Given the description of an element on the screen output the (x, y) to click on. 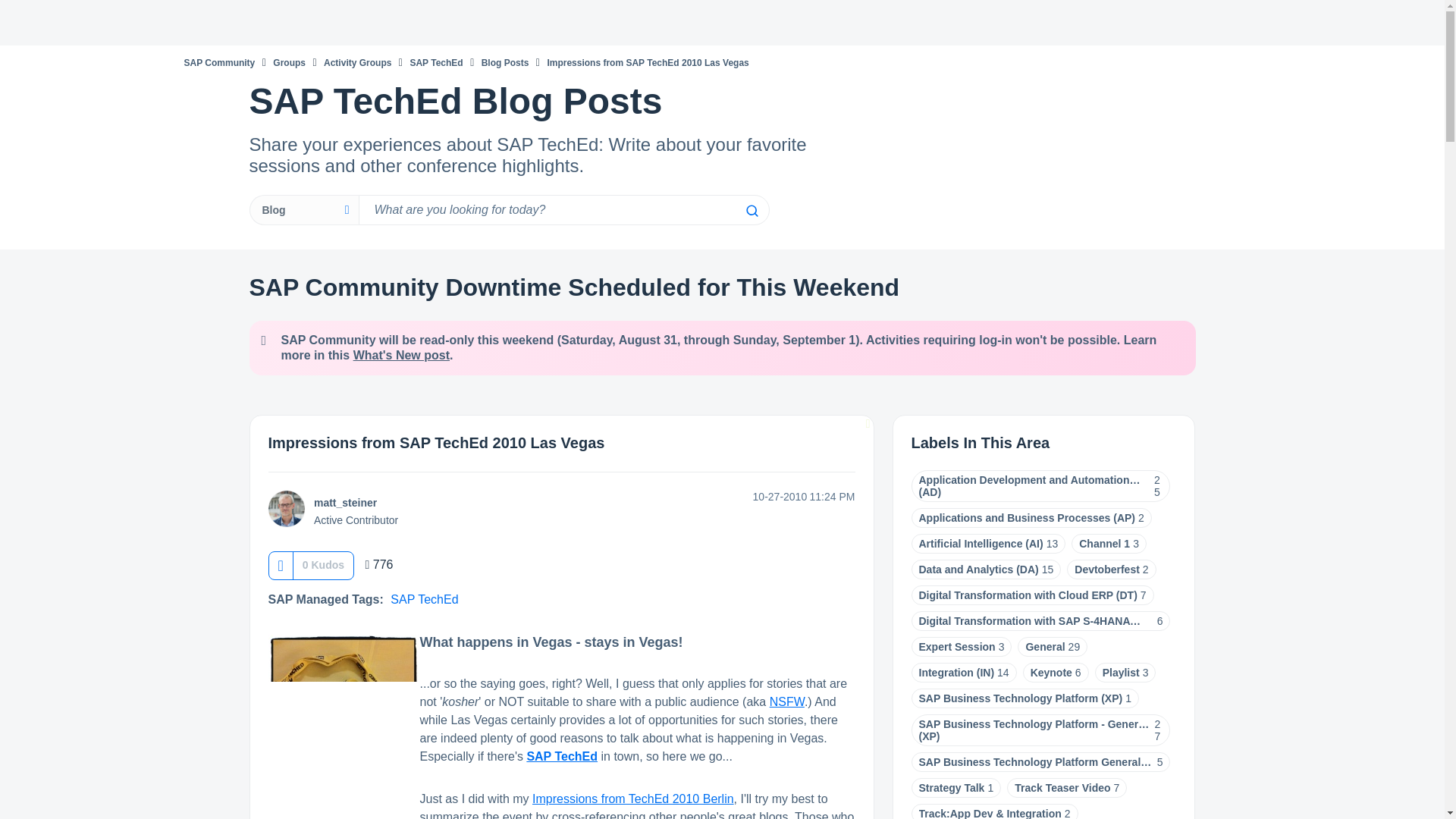
Click here to give kudos to this post. (279, 565)
Impressions from SAP TechEd 2010 Las Vegas (436, 442)
Groups (289, 62)
Search Granularity (303, 209)
Search (750, 210)
Activity Groups (357, 62)
SAP TechEd (560, 756)
Impressions from TechEd 2010 Berlin (632, 798)
What's New post (401, 354)
The total number of kudos this post has received. (323, 565)
